Given the description of an element on the screen output the (x, y) to click on. 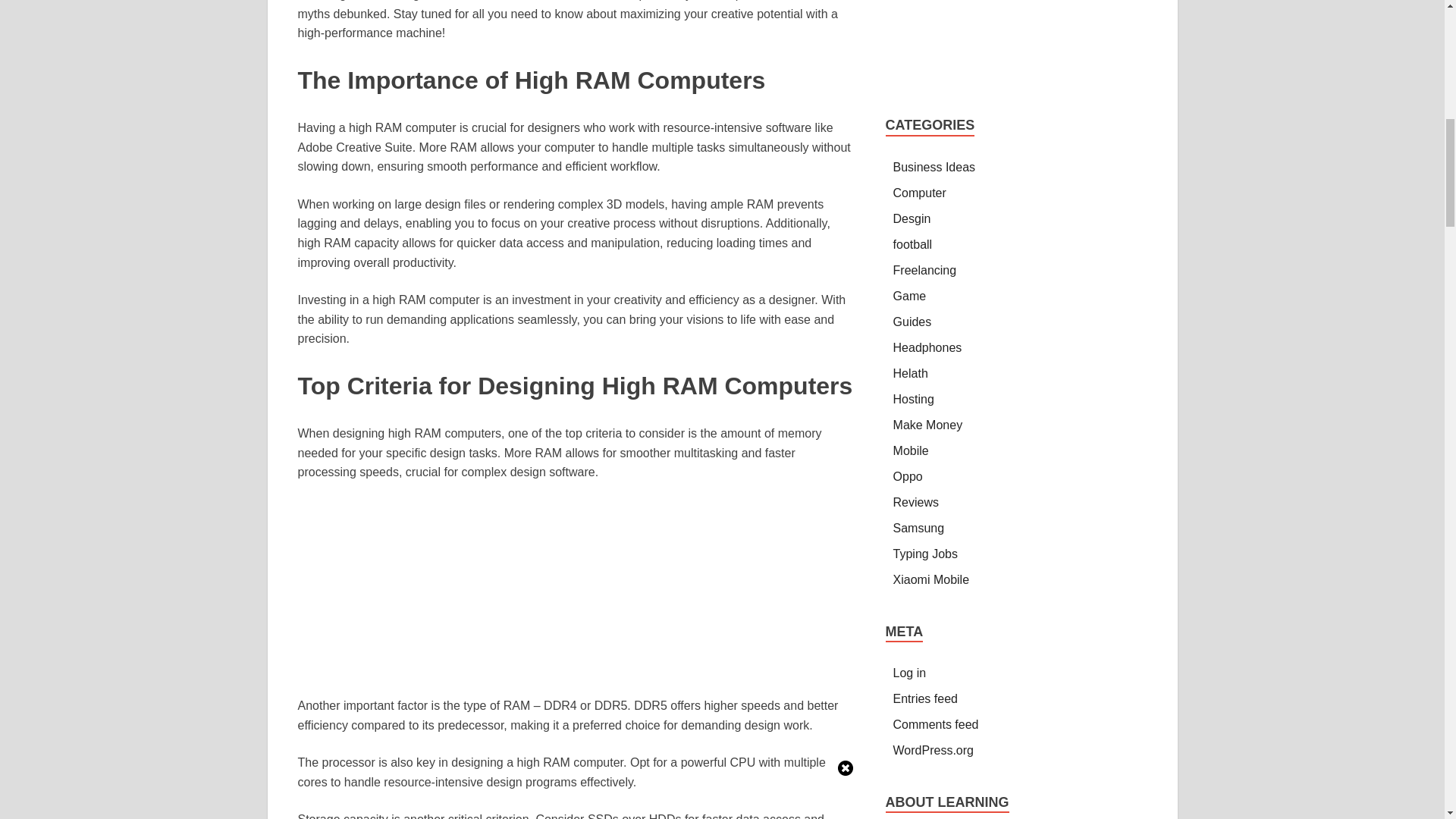
Advertisement (1015, 43)
